Given the description of an element on the screen output the (x, y) to click on. 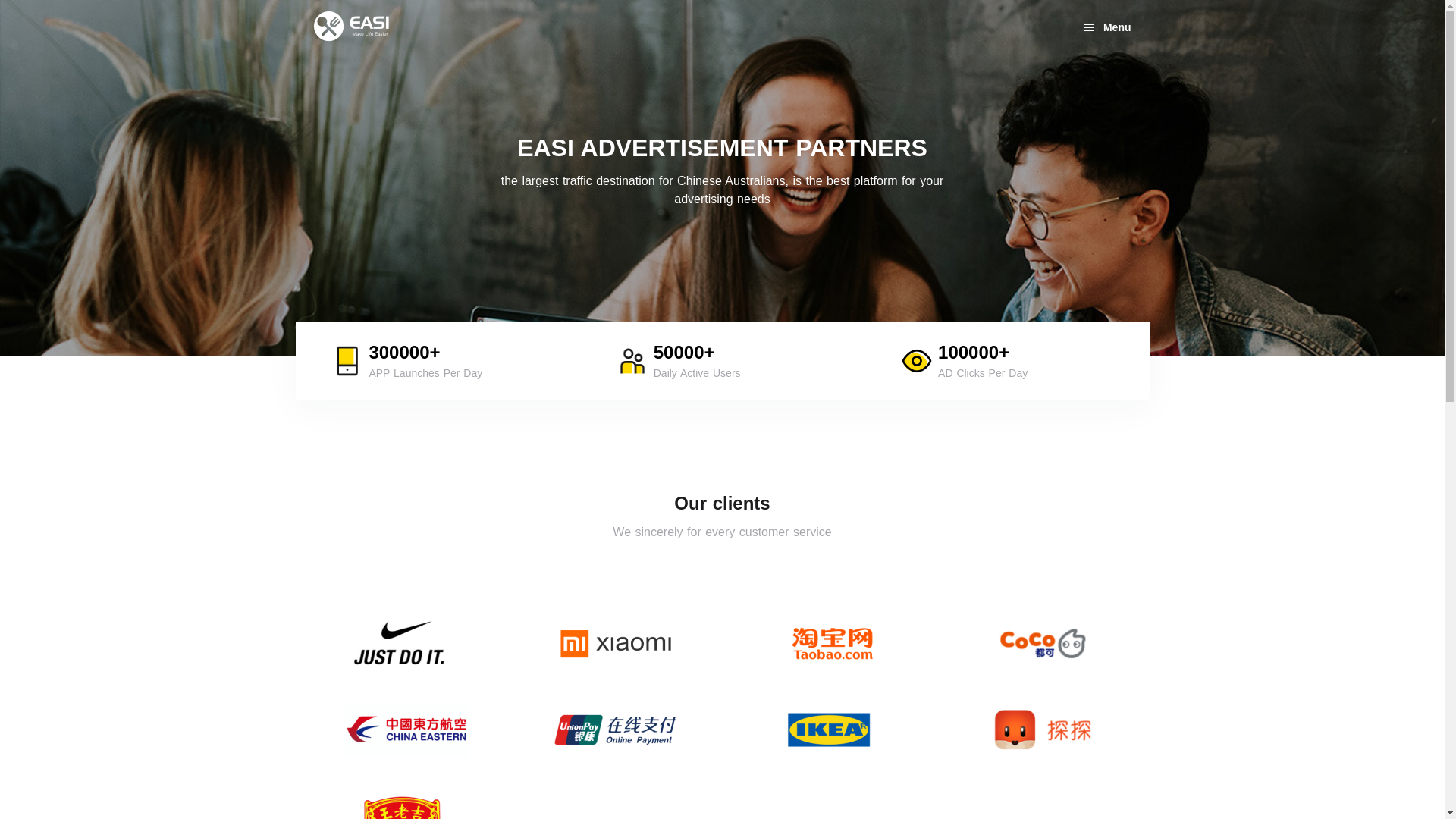
Menu Element type: text (1107, 26)
EASI Element type: text (351, 26)
